Given the description of an element on the screen output the (x, y) to click on. 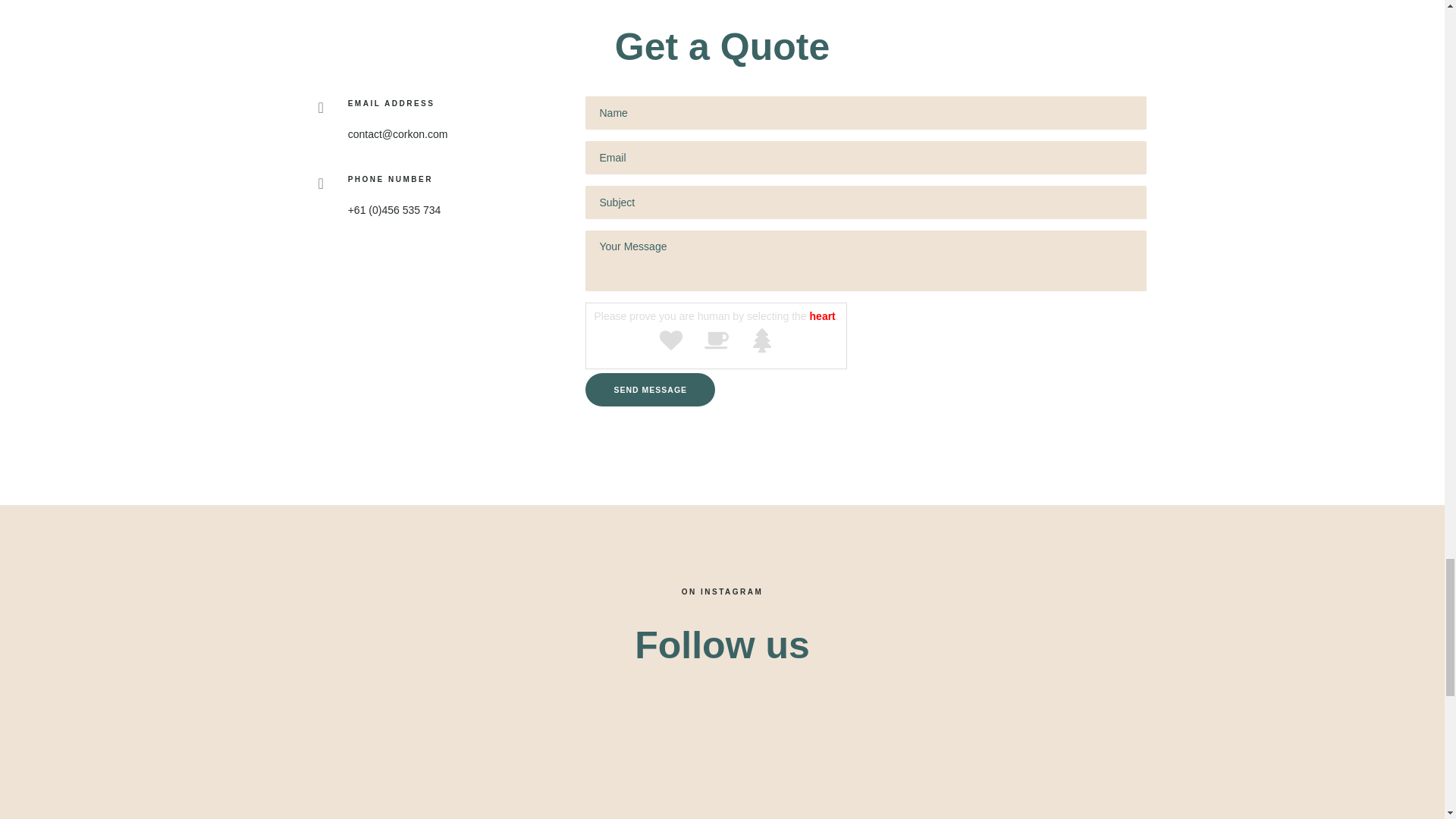
Send Message (649, 390)
